Given the description of an element on the screen output the (x, y) to click on. 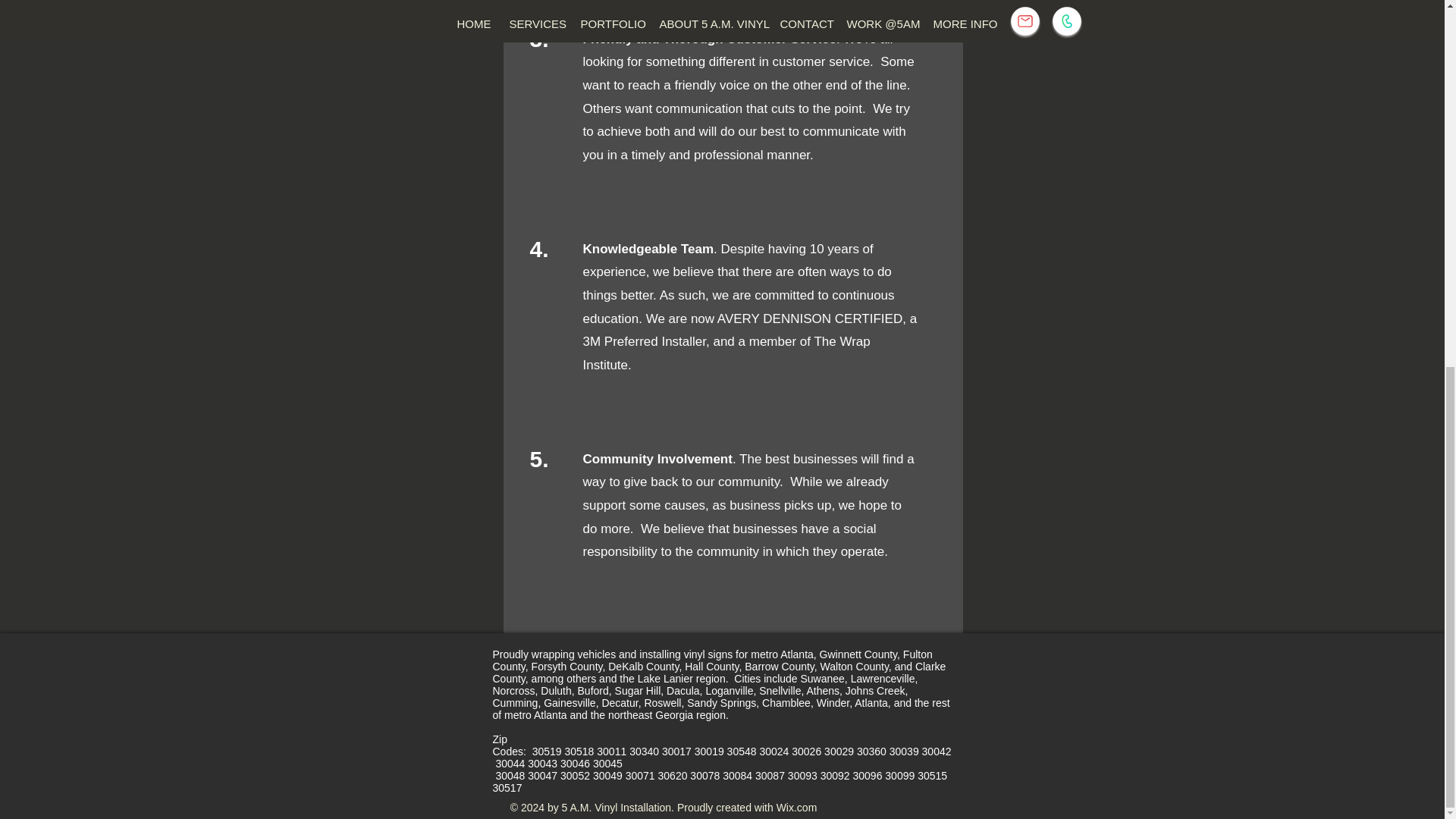
30039  (905, 751)
30019  (710, 751)
30548  (743, 751)
30024  (775, 751)
30045    (559, 769)
30046  (576, 763)
30017  (678, 751)
30044  (511, 763)
30043  (543, 763)
30360  (873, 751)
30518  (580, 751)
30340  (645, 751)
30029  (840, 751)
30047  (543, 775)
30048  (511, 775)
